Given the description of an element on the screen output the (x, y) to click on. 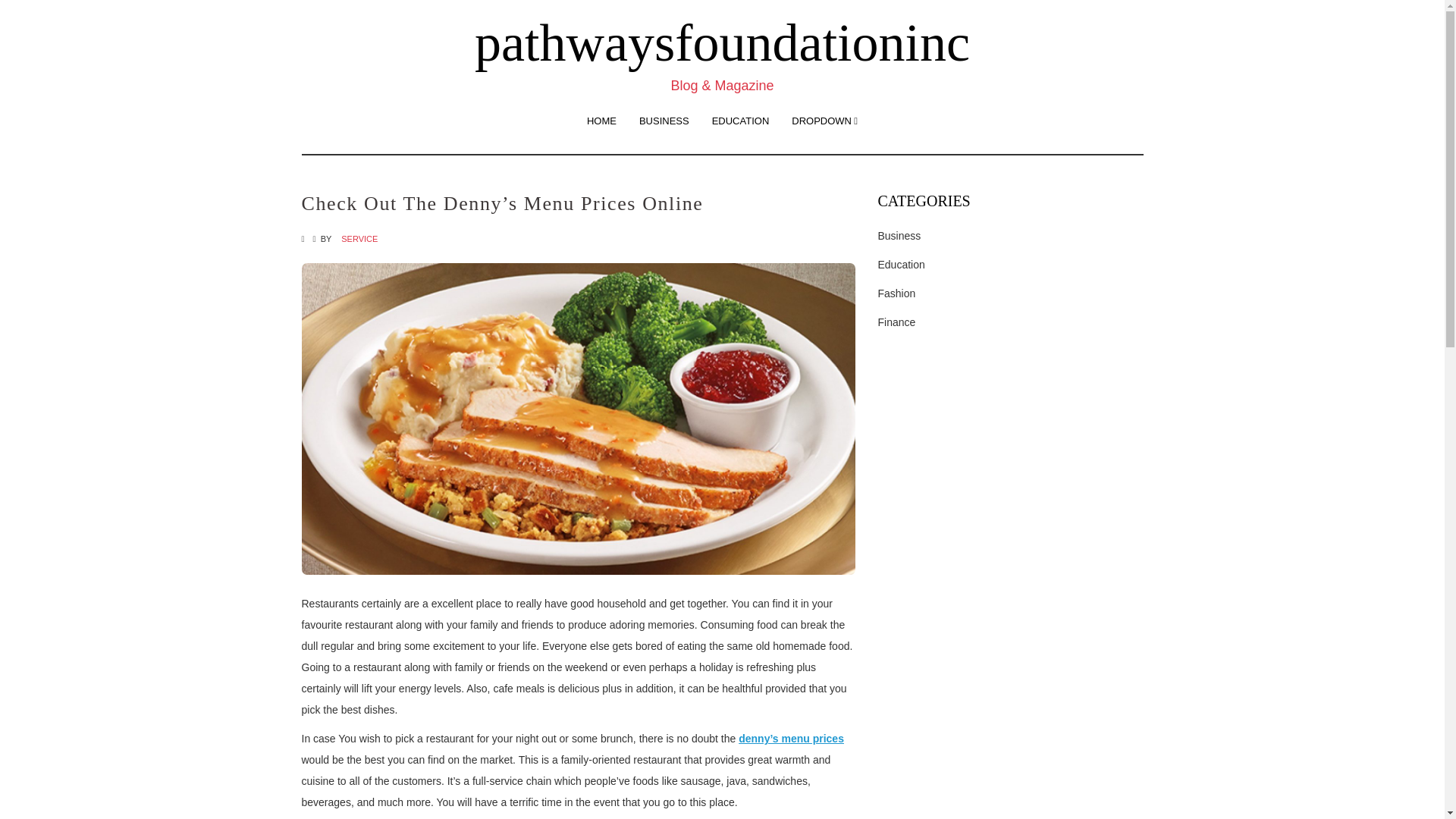
Education (900, 264)
pathwaysfoundationinc (721, 42)
Fashion (896, 293)
HOME (601, 121)
BUSINESS (663, 121)
DROPDOWN (824, 121)
SERVICE (358, 238)
Business (899, 235)
EDUCATION (740, 121)
Finance (896, 322)
